Given the description of an element on the screen output the (x, y) to click on. 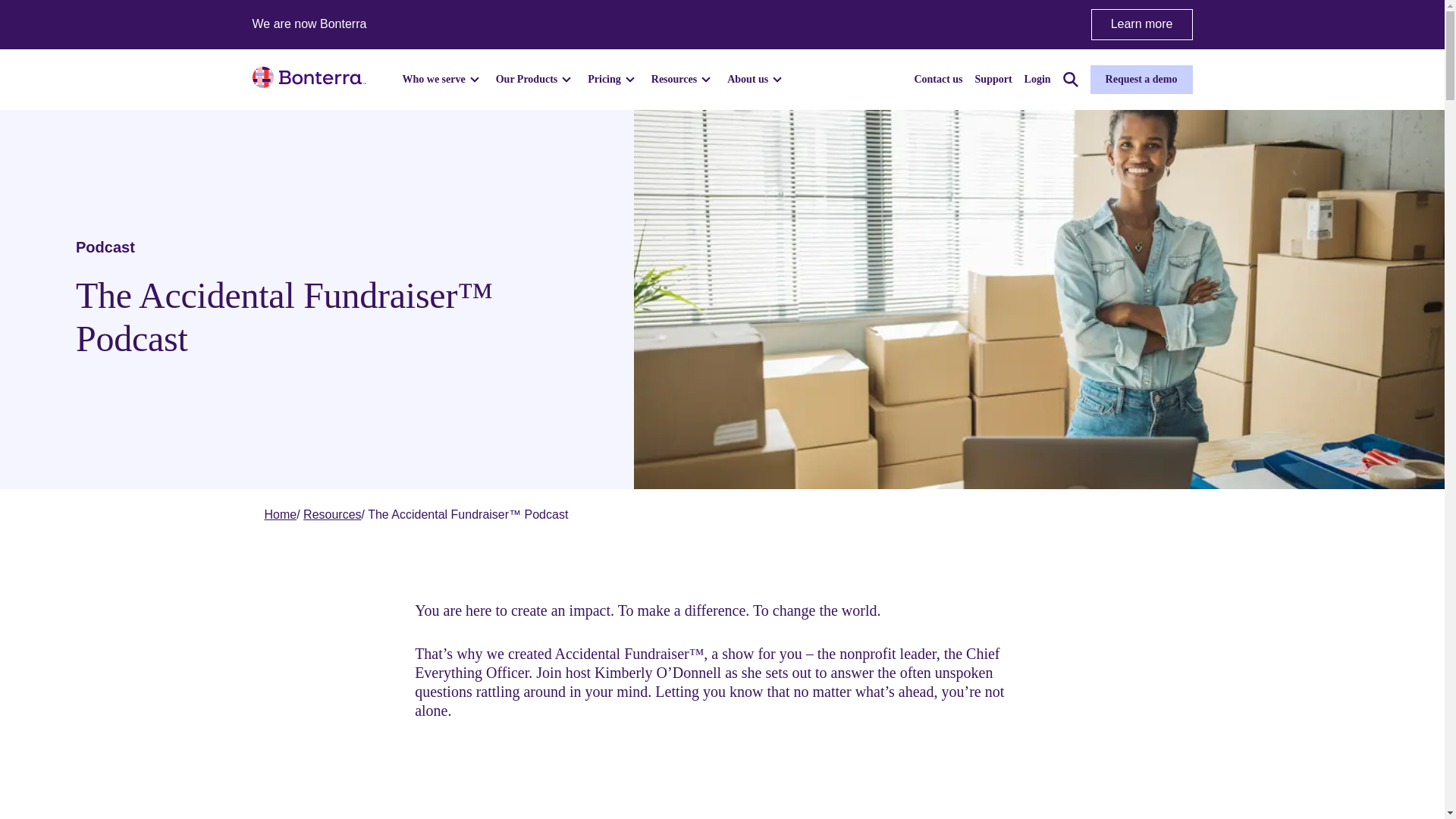
Support (993, 79)
Who we serve (442, 79)
Contact us (938, 79)
Request a demo (1141, 79)
Learn more (1141, 24)
Pricing (613, 79)
About us (756, 79)
Resources (682, 79)
Our Products (536, 79)
Search (1070, 79)
Login (1038, 79)
